Given the description of an element on the screen output the (x, y) to click on. 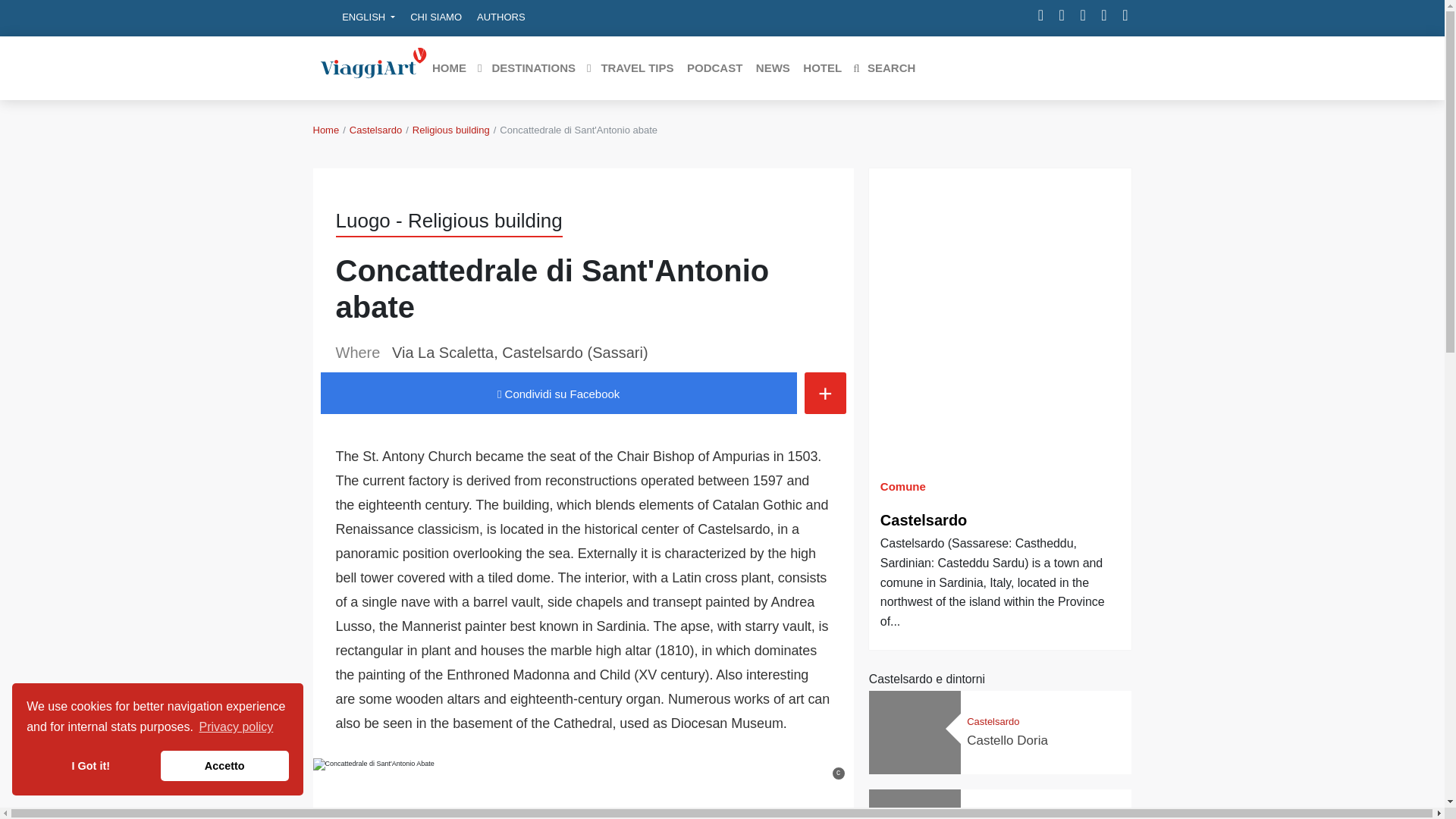
Religious building (450, 130)
Search (883, 68)
Castelsardo (375, 130)
HOME (448, 68)
AUTHORS (500, 16)
ENGLISH (358, 17)
Accetto (224, 766)
Authors (500, 16)
Concattedrale di Sant'Antonio Abate (373, 788)
ViaggiArt (373, 66)
